Given the description of an element on the screen output the (x, y) to click on. 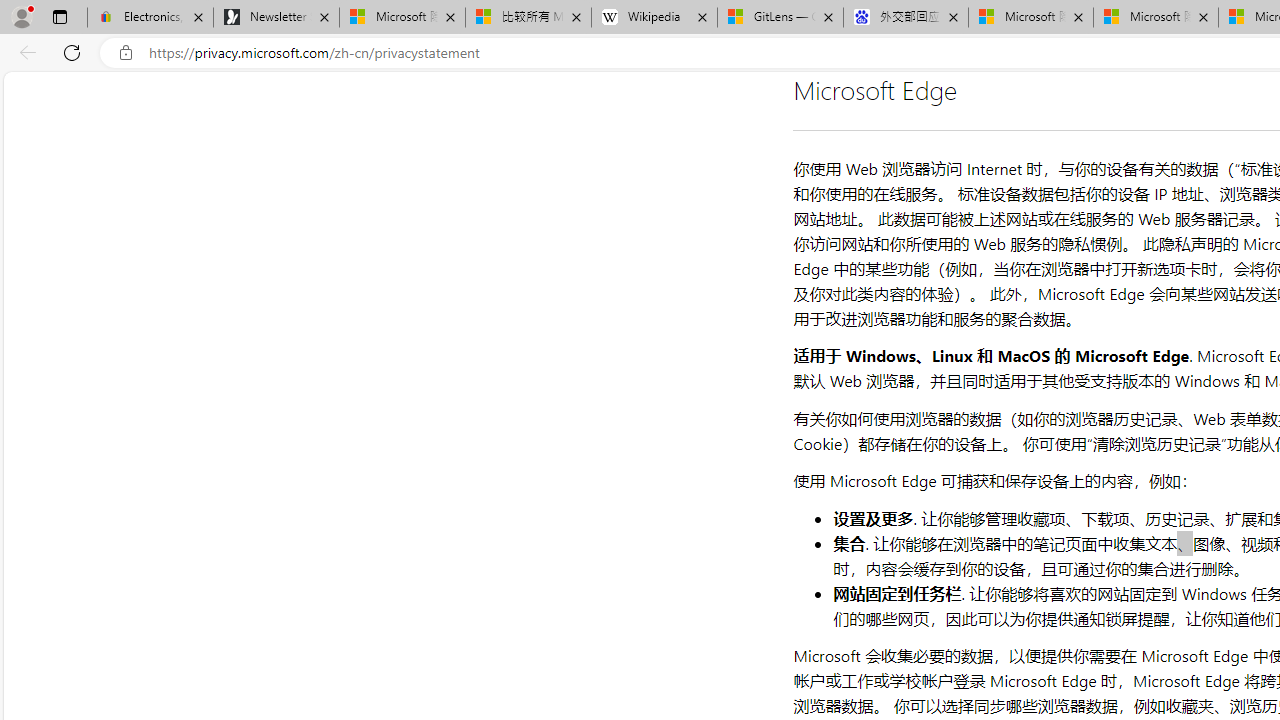
Newsletter Sign Up (276, 17)
